Given the description of an element on the screen output the (x, y) to click on. 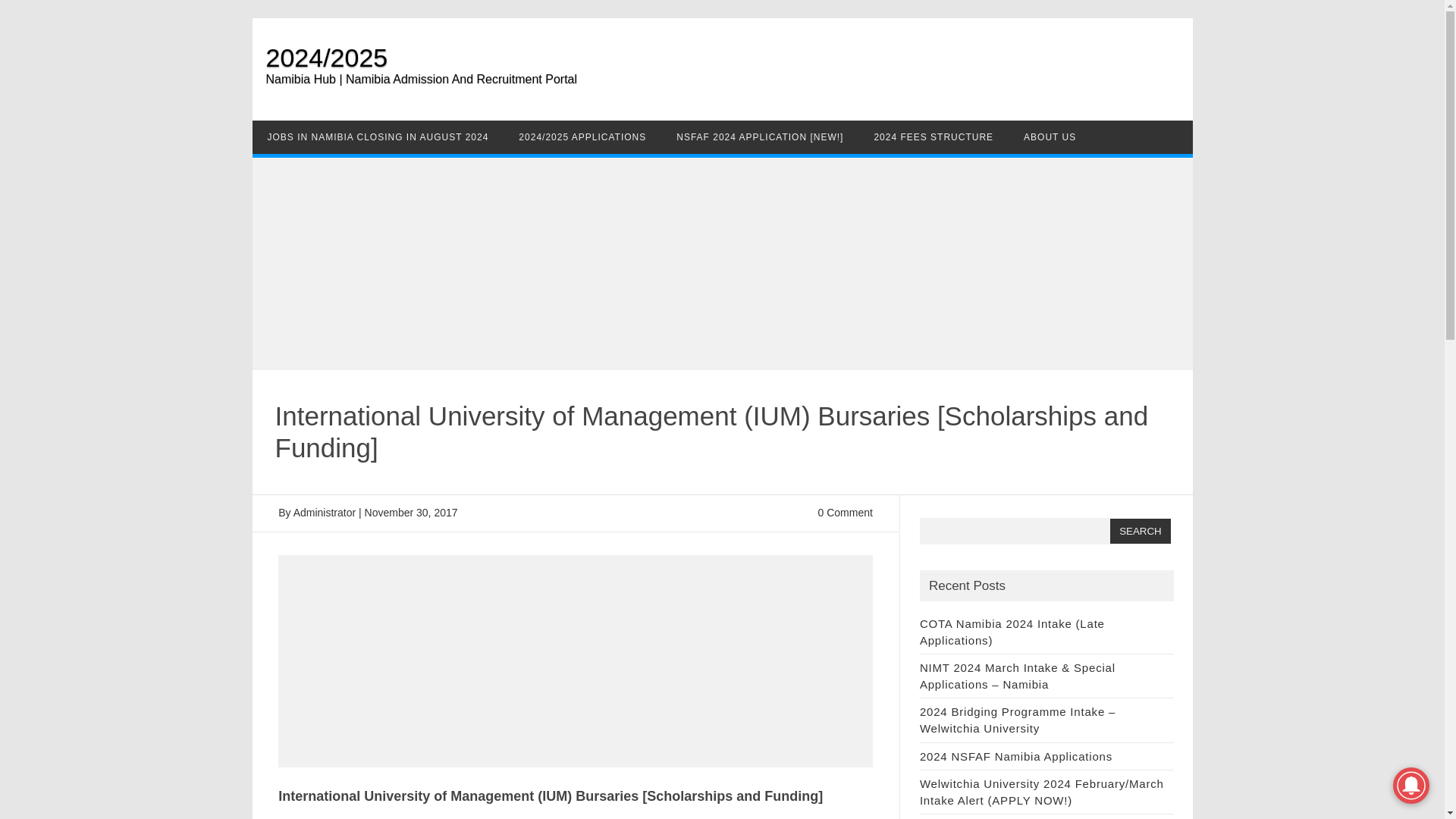
Advertisement (575, 661)
Posts by Administrator (324, 512)
Search (1139, 530)
Search (1139, 530)
ABOUT US (1049, 136)
0 Comment (845, 512)
2024 FEES STRUCTURE (934, 136)
